Given the description of an element on the screen output the (x, y) to click on. 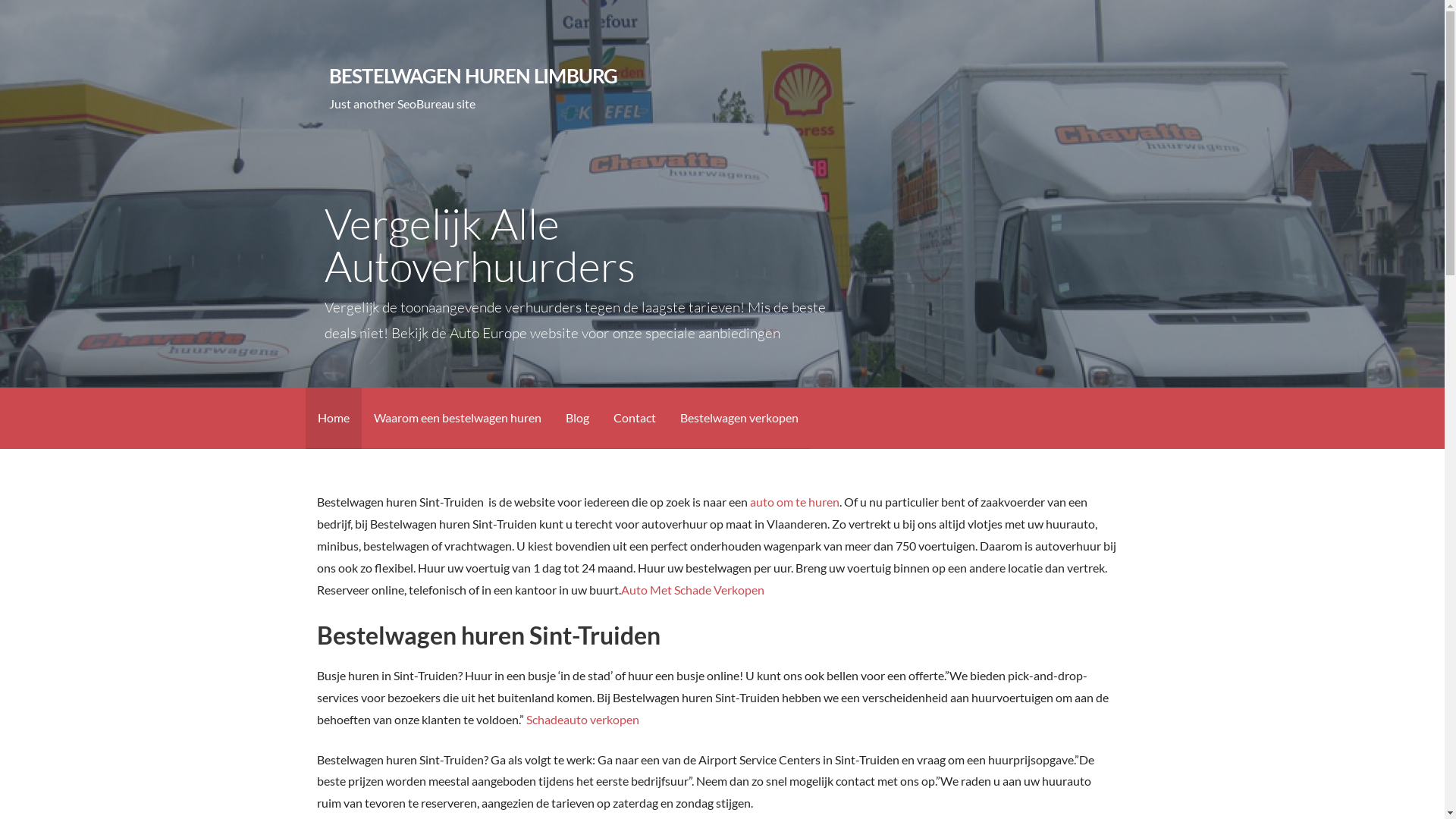
Auto Met Schade Verkopen Element type: text (692, 589)
Bestelwagen verkopen Element type: text (738, 417)
BESTELWAGEN HUREN LIMBURG Element type: text (473, 75)
auto om te huren Element type: text (794, 501)
Blog Element type: text (577, 417)
Schadeauto verkopen Element type: text (582, 719)
Home Element type: text (332, 417)
Contact Element type: text (633, 417)
Waarom een bestelwagen huren Element type: text (456, 417)
